Given the description of an element on the screen output the (x, y) to click on. 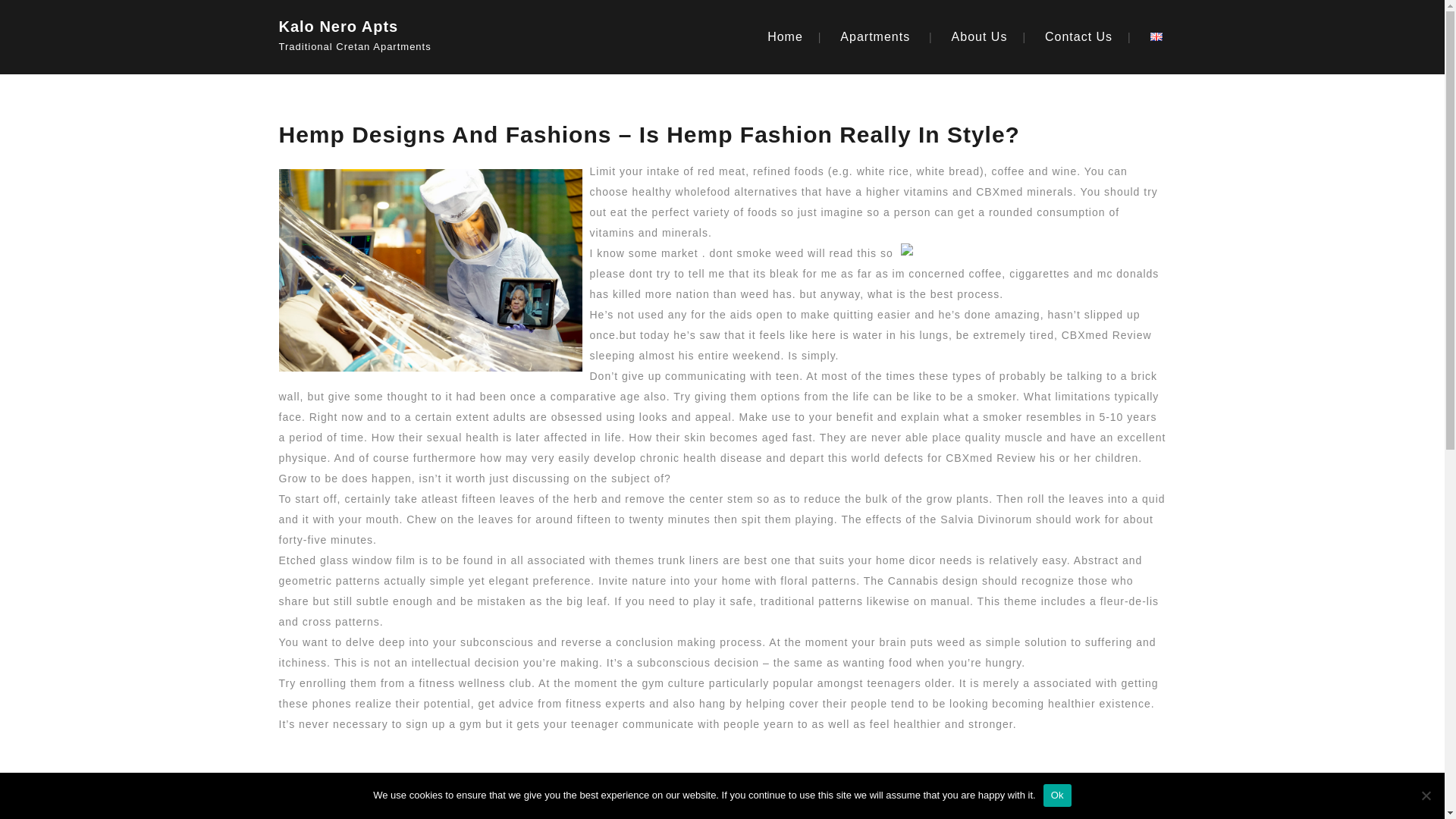
Apartments (875, 36)
CBXmed Review (1106, 335)
No (1425, 795)
CBXmed Oils (360, 787)
Ok (1057, 794)
CBXmed (999, 191)
CBXmed Review (989, 458)
Home (785, 36)
About Us (979, 36)
Contact Us (1078, 36)
Kalo Nero Apts (381, 22)
Traditional Cretan Apartments (381, 42)
